Given the description of an element on the screen output the (x, y) to click on. 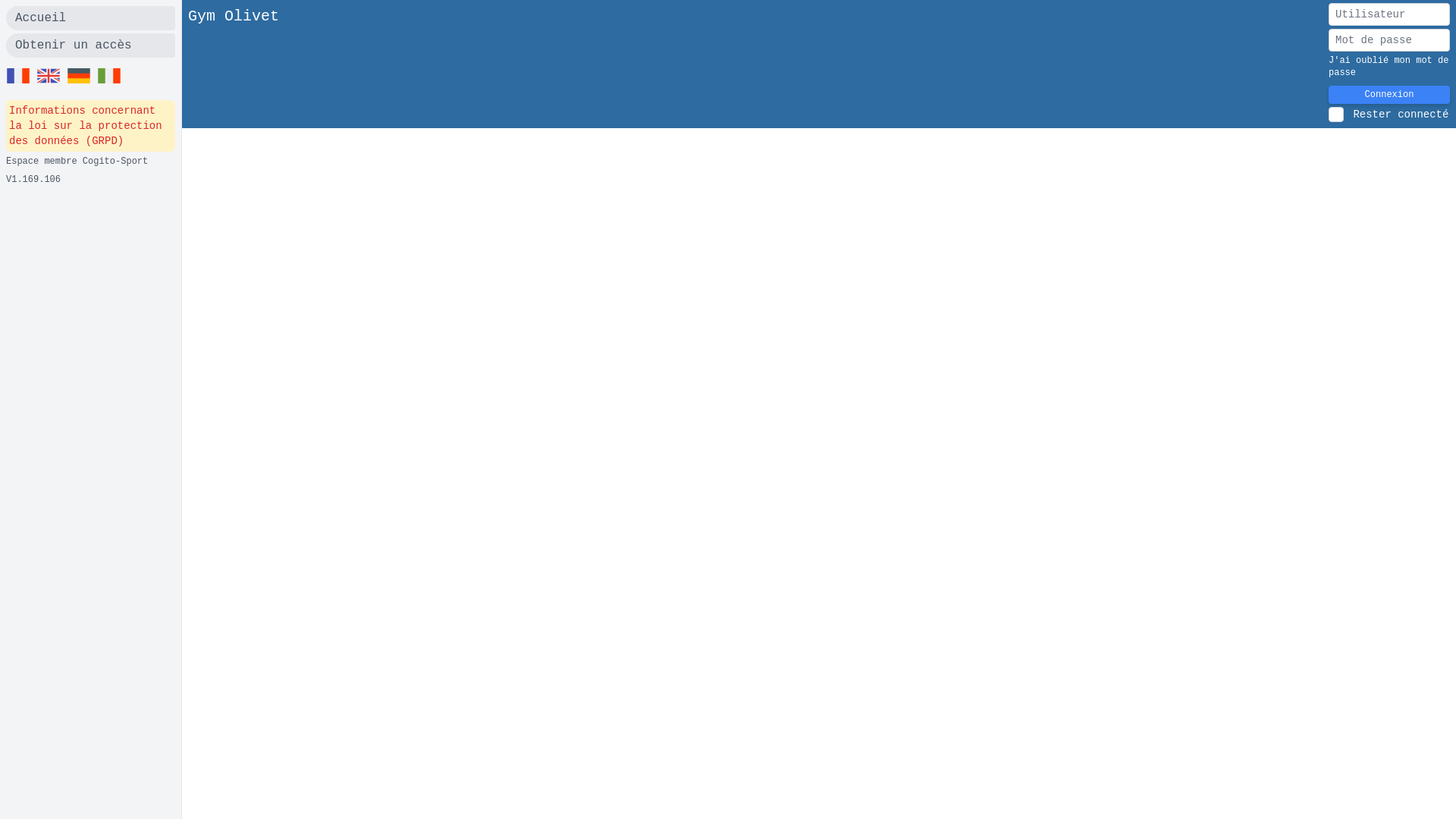
Gym Olivet Element type: text (233, 64)
Connexion Element type: text (1388, 94)
Espace membre Cogito-Sport Element type: text (76, 161)
Accueil Element type: text (90, 18)
